Given the description of an element on the screen output the (x, y) to click on. 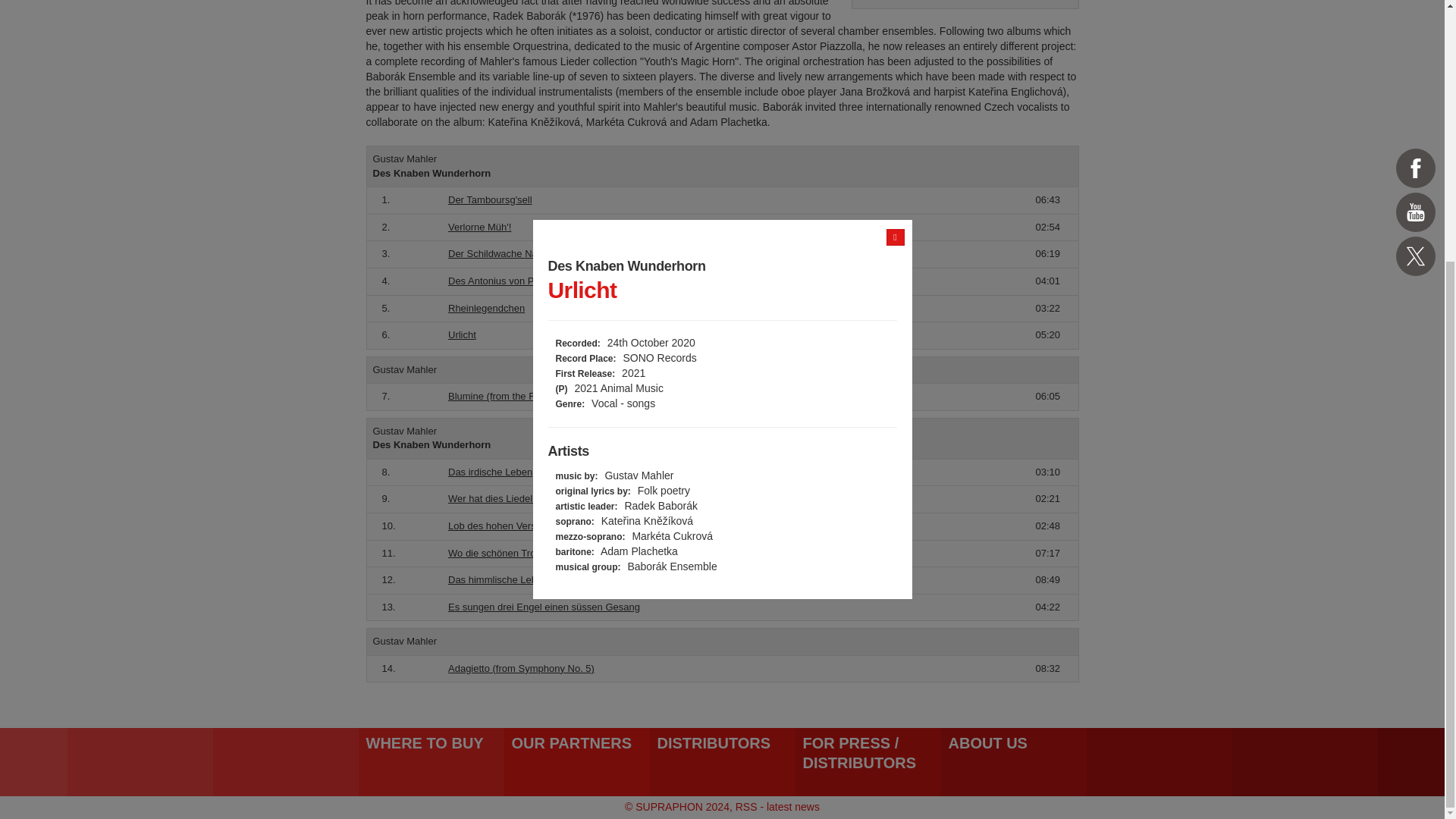
Urlicht (462, 334)
Das himmlische Leben (498, 579)
Des Antonius von Padua Fischpredigt (530, 280)
Lob des hohen Verstands (503, 525)
Rheinlegendchen (486, 307)
Wer hat dies Liedel erdacht? (510, 498)
Das irdische Leben (490, 471)
Der Tamboursg'sell (490, 199)
Der Schildwache Nachtlied (507, 253)
